Given the description of an element on the screen output the (x, y) to click on. 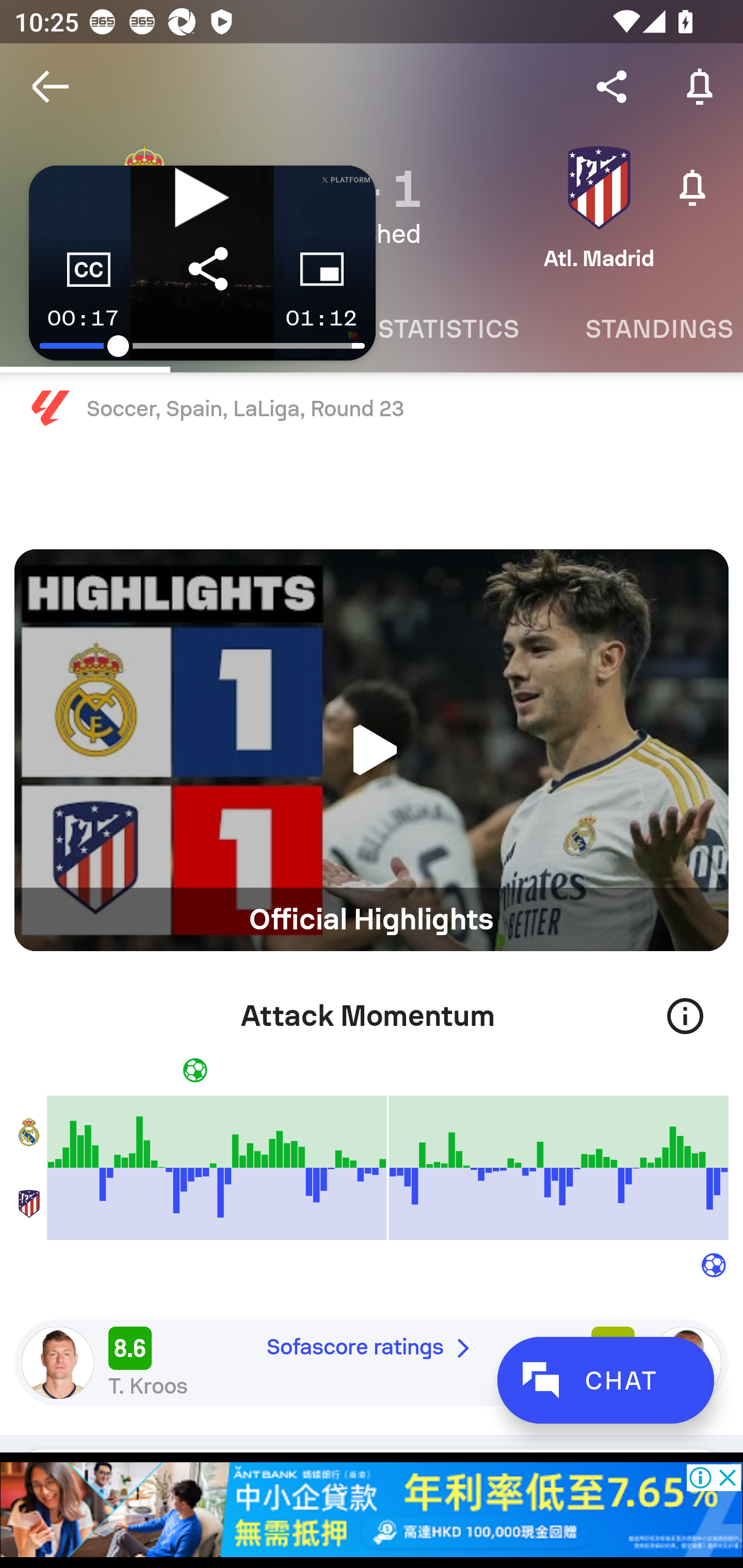
Navigate up (50, 86)
Statistics STATISTICS (448, 329)
Standings STANDINGS (647, 329)
Soccer, Spain, LaLiga, Round 23 (371, 409)
8.6 Sofascore ratings 7.6 T. Kroos A. Griezmann (371, 1362)
CHAT (605, 1380)
